Given the description of an element on the screen output the (x, y) to click on. 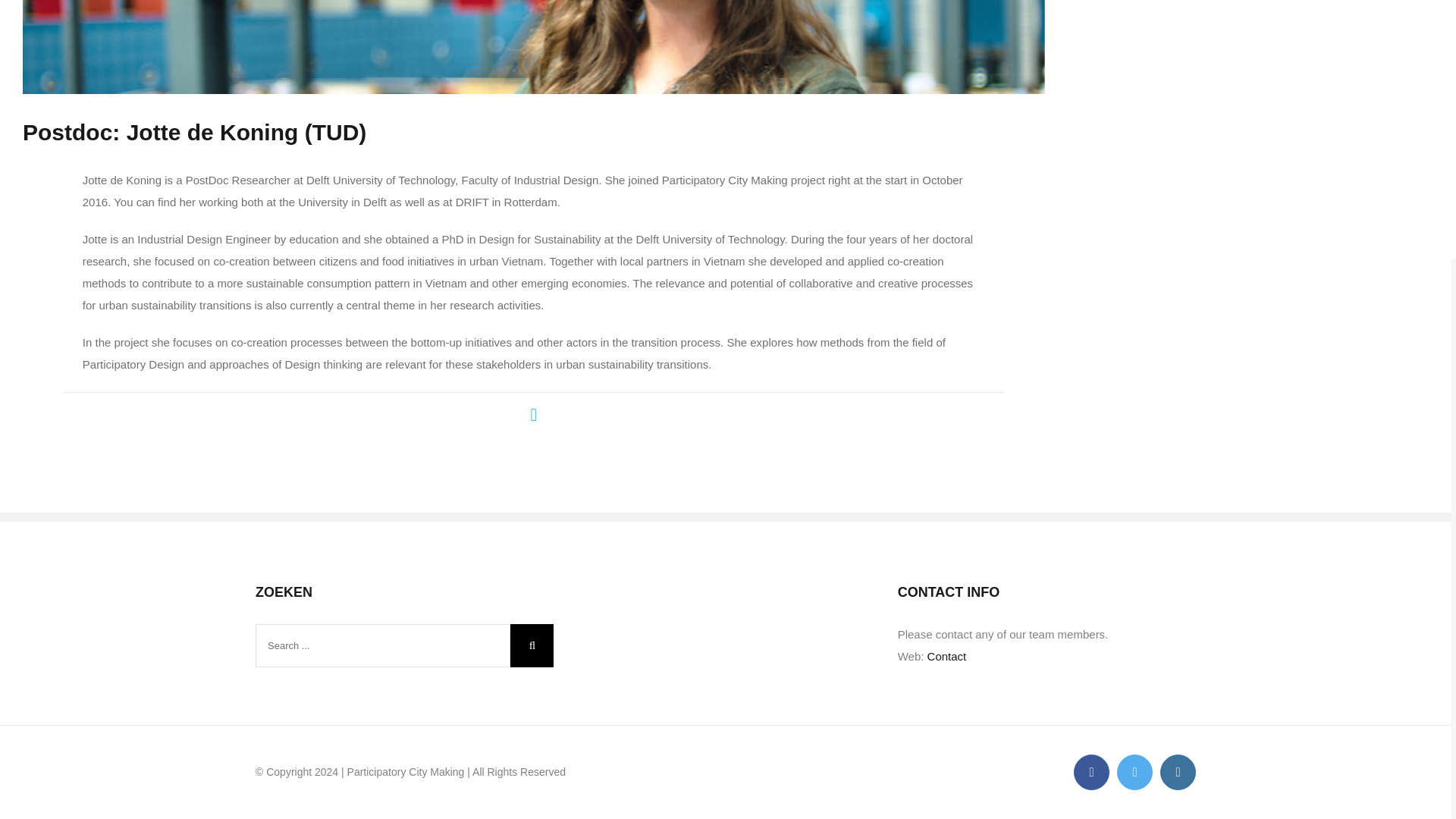
Mail (534, 414)
Instagram (1177, 772)
View Larger Image (534, 47)
Twitter (1134, 772)
Instagram (1177, 772)
Twitter (1134, 772)
Facebook (1091, 772)
Contact (946, 656)
Facebook (1091, 772)
